Given the description of an element on the screen output the (x, y) to click on. 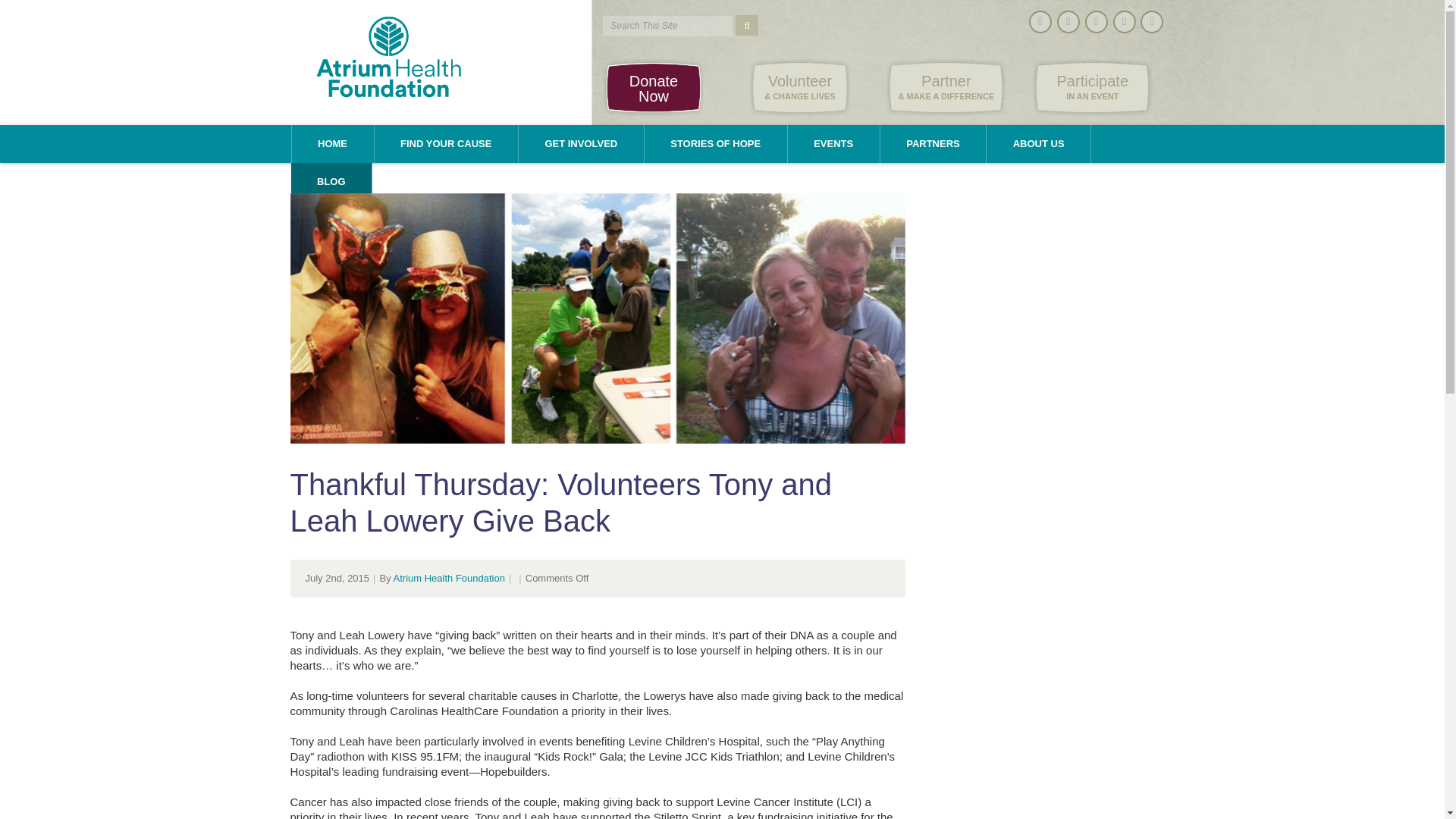
STORIES OF HOPE (716, 143)
FIND YOUR CAUSE (446, 143)
Posts by Atrium Health Foundation (449, 577)
HOME (1092, 87)
Donate Now (331, 143)
Search This Site (652, 87)
Search This Site (667, 25)
GET INVOLVED (667, 25)
